Given the description of an element on the screen output the (x, y) to click on. 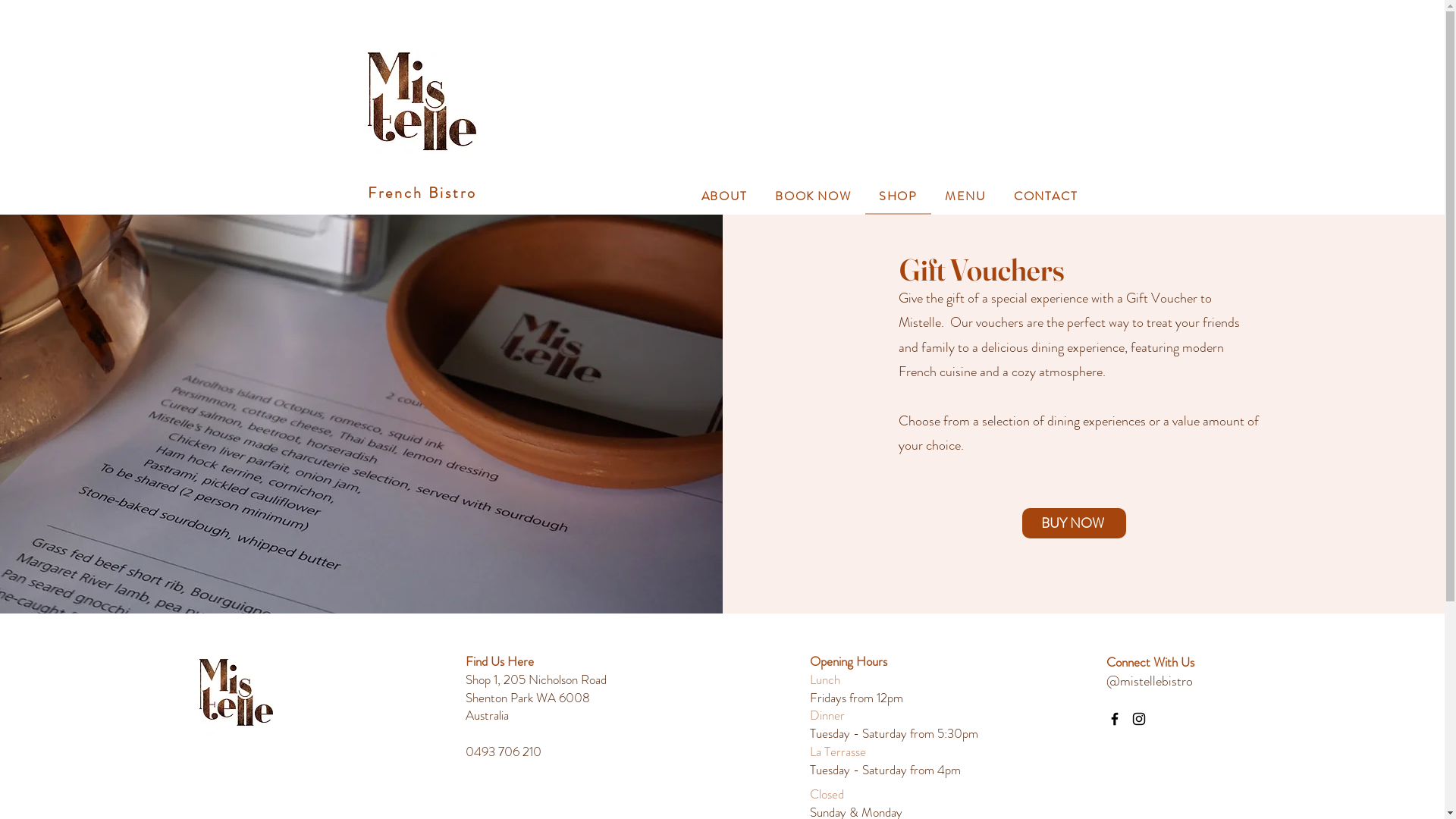
BOOK NOW Element type: text (812, 196)
BUY NOW Element type: text (1074, 523)
ABOUT Element type: text (724, 196)
MENU Element type: text (965, 196)
SHOP Element type: text (898, 196)
CONTACT Element type: text (1046, 196)
